Given the description of an element on the screen output the (x, y) to click on. 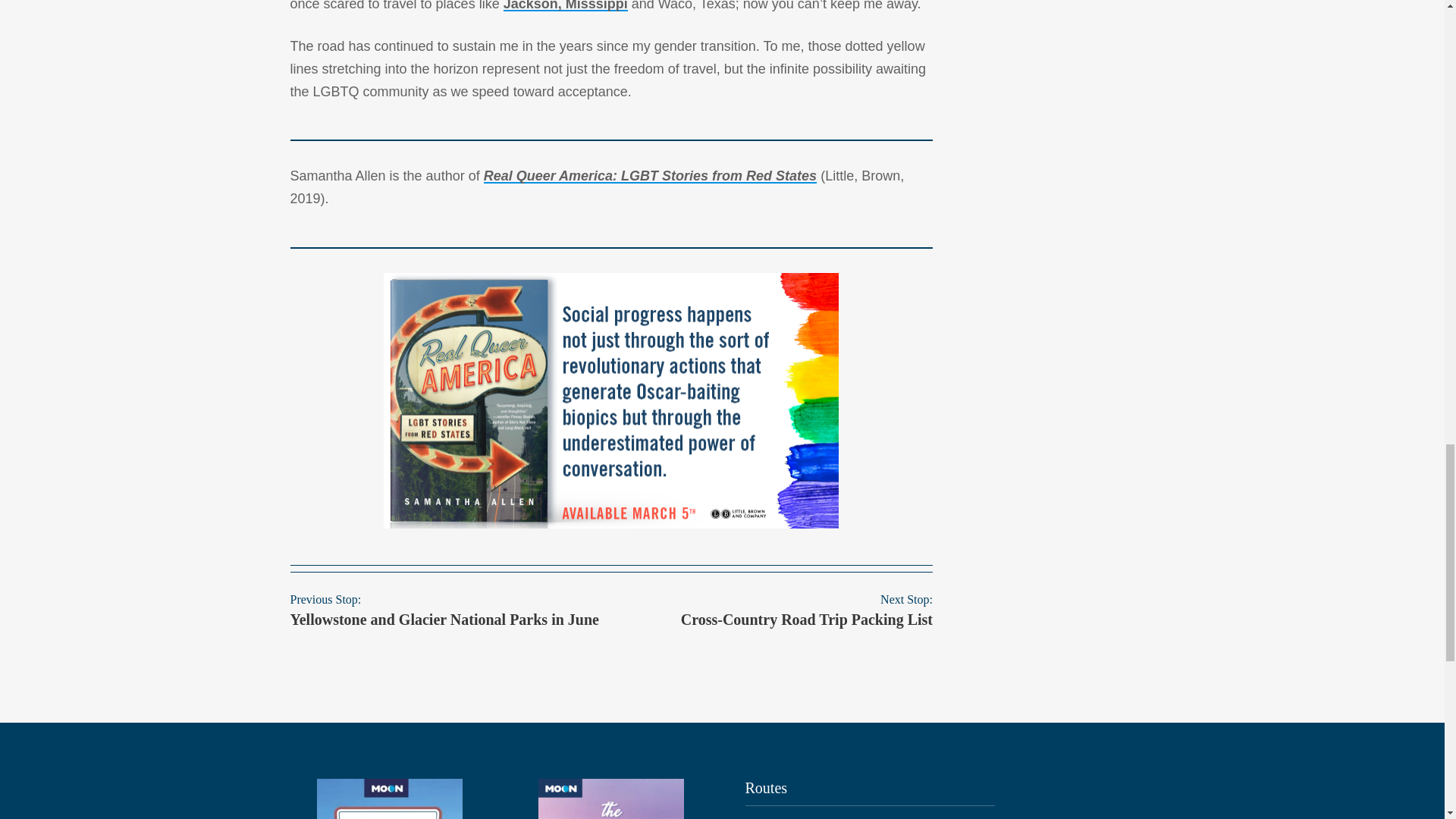
Author Samantha Allen on Finding LGBTQ Pride Across America (390, 798)
Jackson, Misssippi (565, 5)
Yellowstone and Glacier National Parks in June (443, 619)
Cross-Country Road Trip Packing List (807, 619)
Author Samantha Allen on Finding LGBTQ Pride Across America (611, 798)
Real Queer America: LGBT Stories from Red States (649, 175)
